Given the description of an element on the screen output the (x, y) to click on. 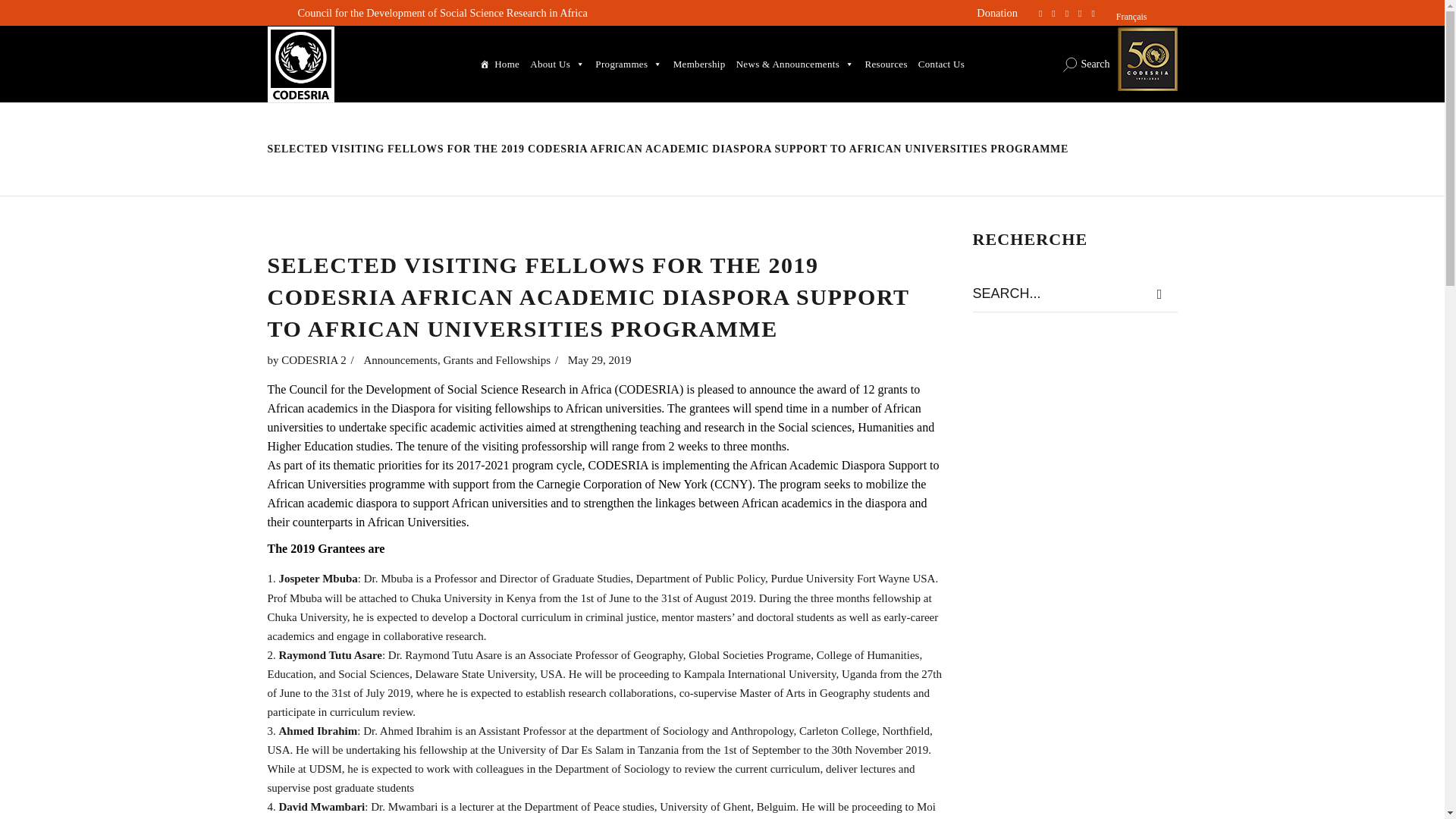
Home (499, 64)
About Us (556, 64)
Search for: (1056, 294)
Donation (996, 12)
Membership (699, 64)
Programmes (627, 64)
